Given the description of an element on the screen output the (x, y) to click on. 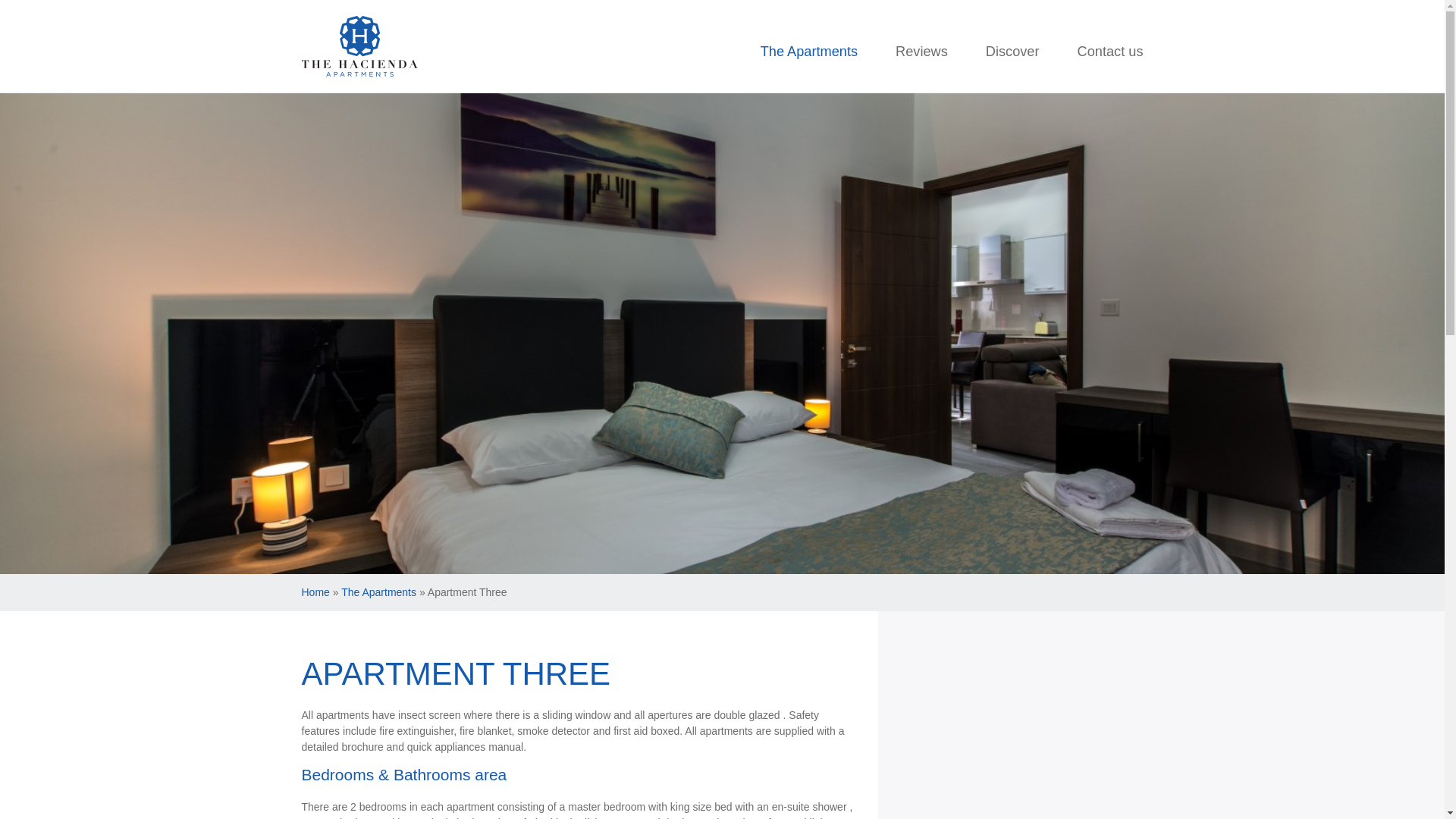
Reviews (921, 51)
Contact us (1109, 51)
The Apartments (378, 592)
The Apartments (808, 51)
Discover (1012, 51)
Home (315, 592)
